Given the description of an element on the screen output the (x, y) to click on. 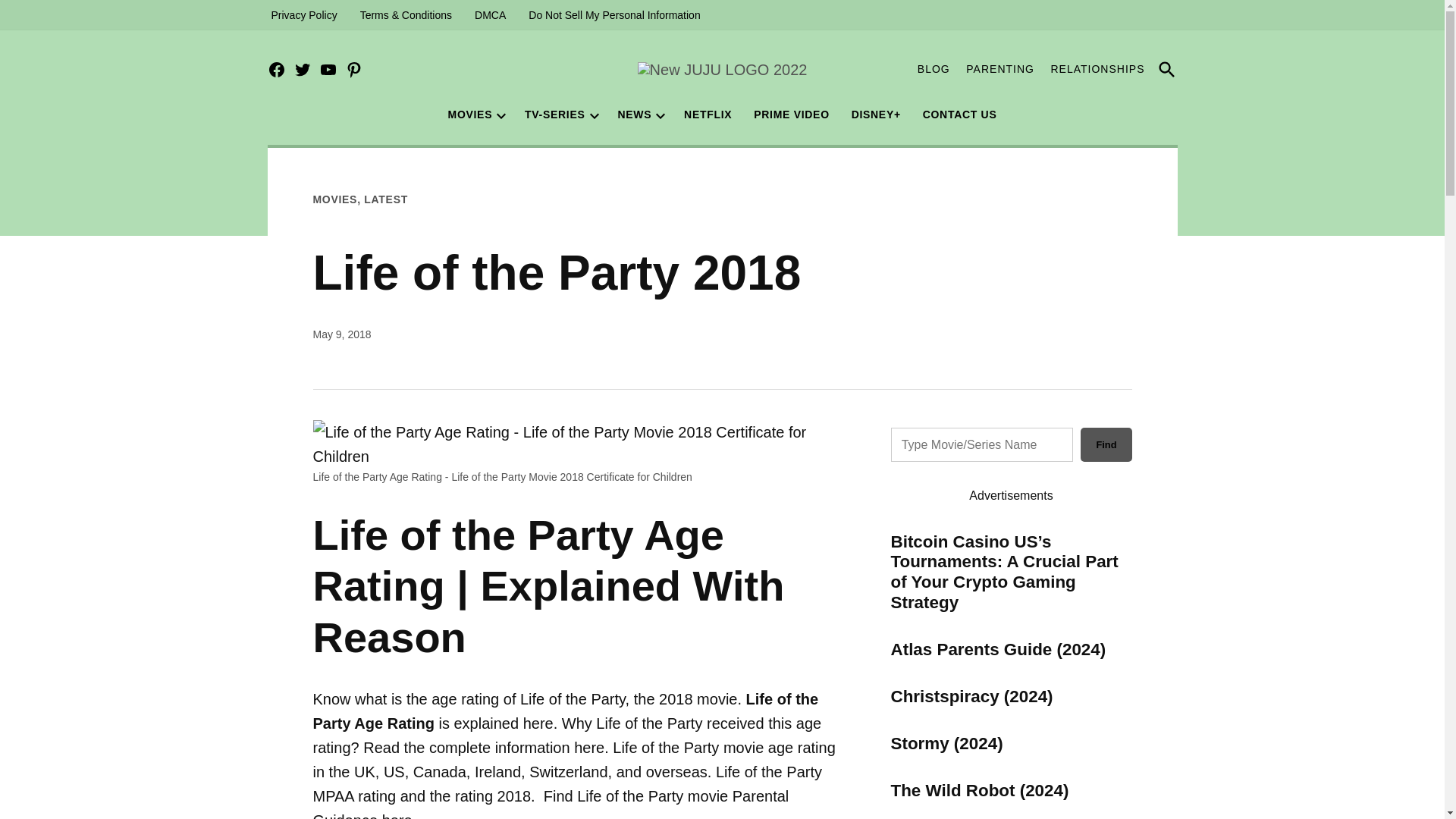
DMCA (489, 14)
Facebook (275, 69)
YouTube (327, 69)
Twitter (301, 69)
Privacy Policy (303, 14)
Do Not Sell My Personal Information (613, 14)
Life of the Party 2018 1 (578, 444)
